Given the description of an element on the screen output the (x, y) to click on. 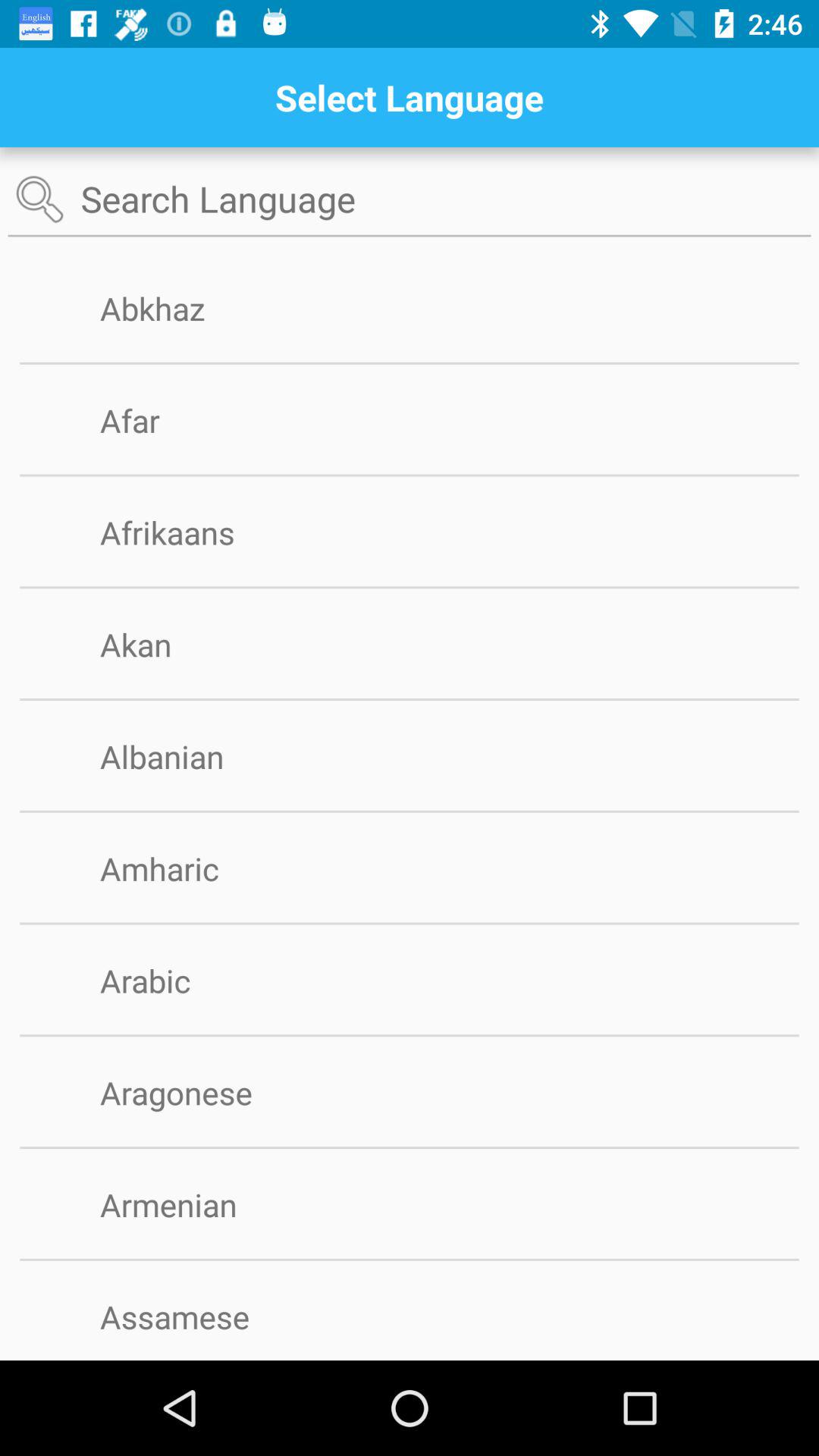
swipe until aragonese (200, 1092)
